Given the description of an element on the screen output the (x, y) to click on. 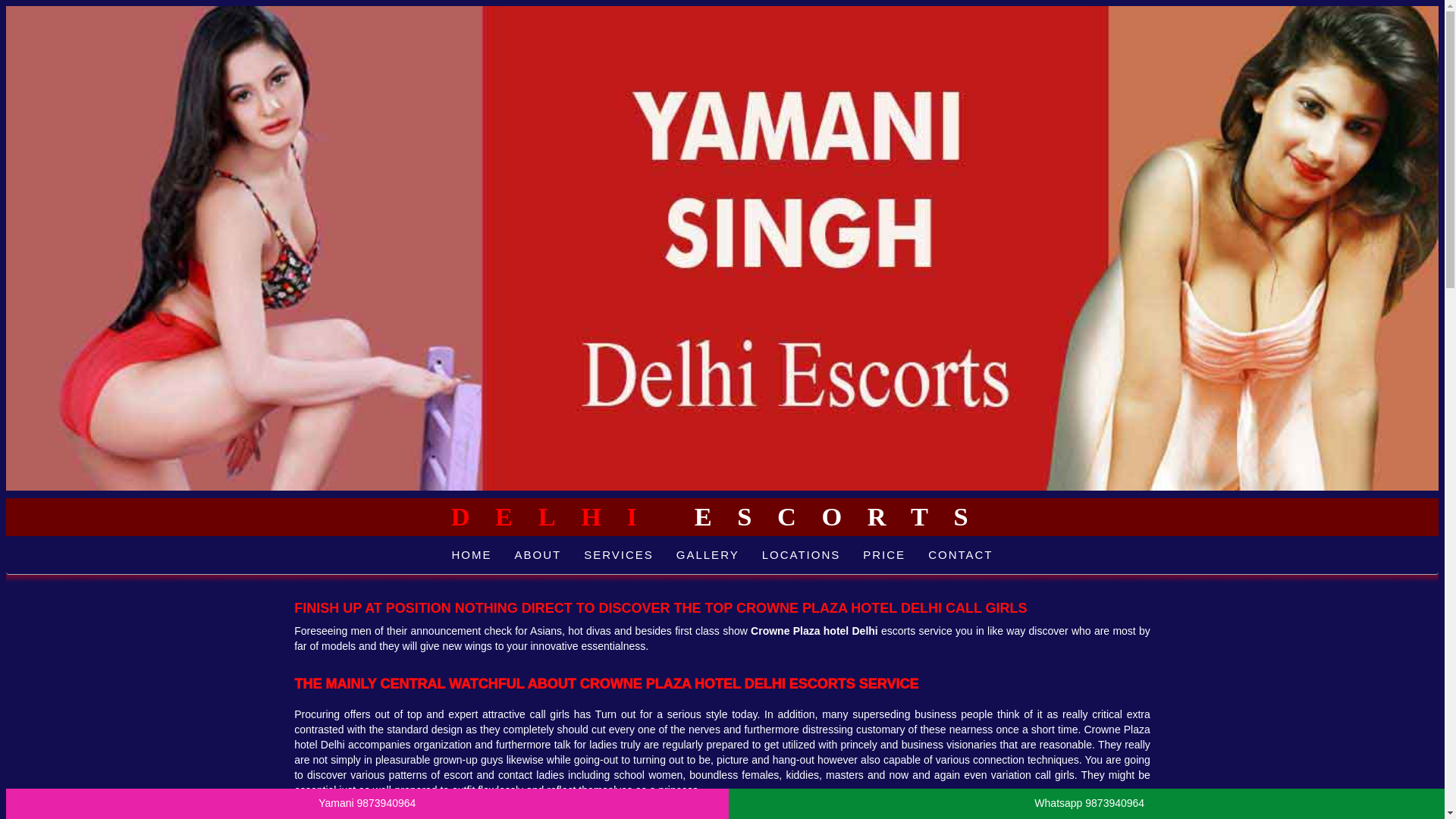
Crowne Plaza hotel Delhi (814, 630)
ABOUT (537, 555)
DELHI ESCORTS (722, 516)
GALLERY (708, 555)
Yamani 9873940964 (367, 803)
HOME (470, 555)
SERVICES (618, 555)
PRICE (884, 555)
CONTACT (960, 555)
LOCATIONS (801, 555)
Crowne Plaza hotel Delhi (814, 630)
